Given the description of an element on the screen output the (x, y) to click on. 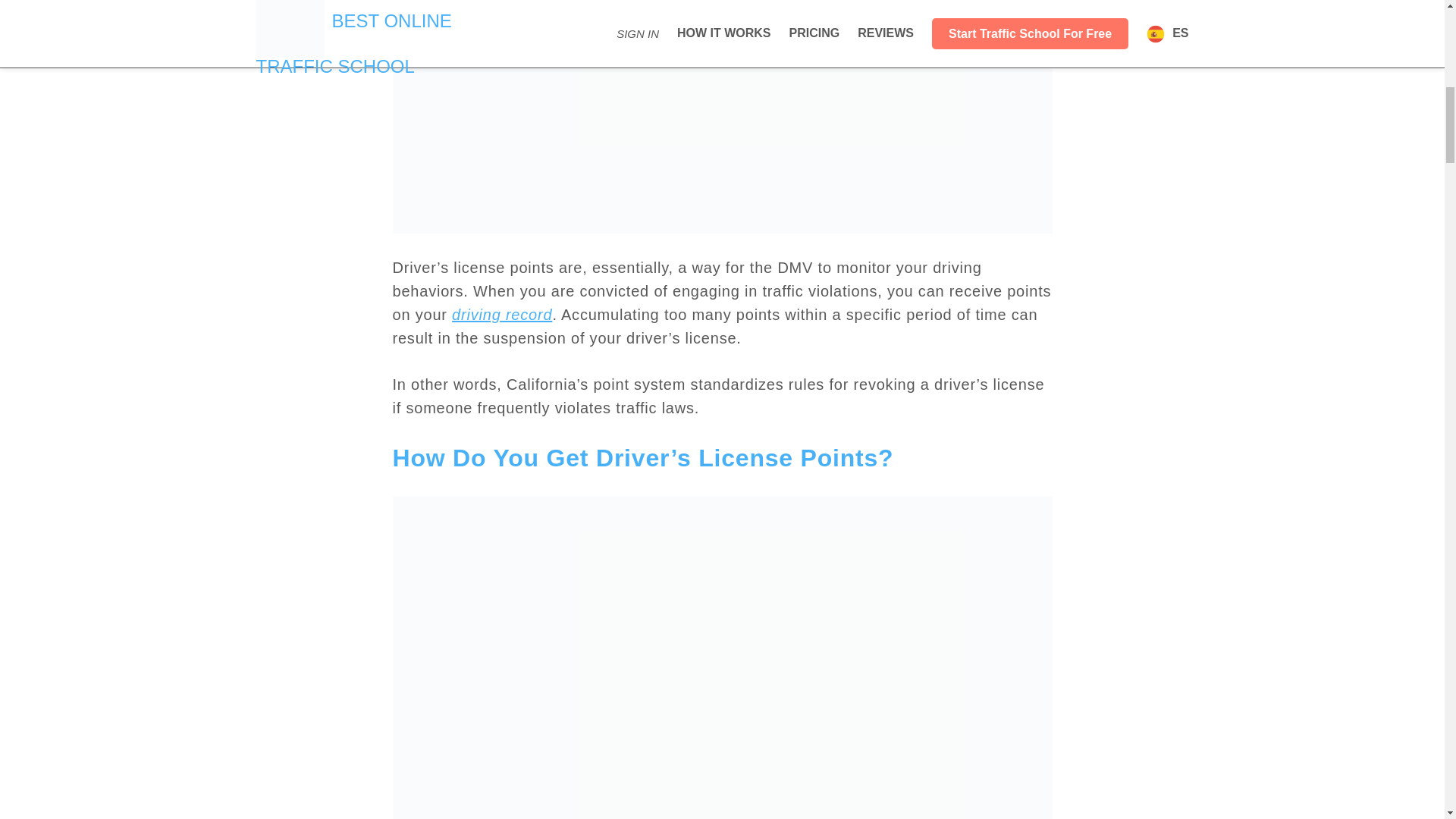
driving record (501, 314)
